Given the description of an element on the screen output the (x, y) to click on. 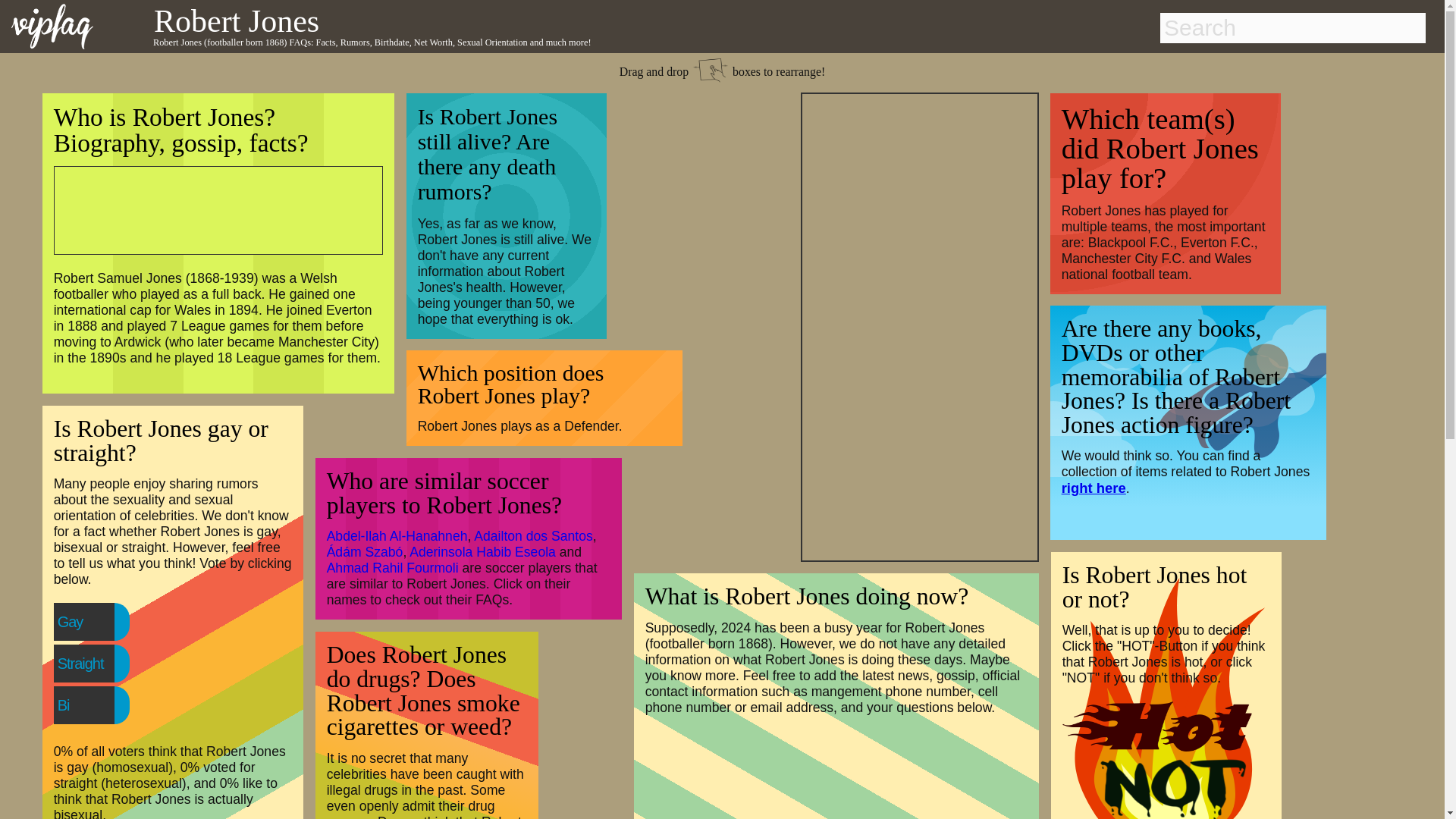
Straight (111, 663)
Bi (94, 705)
Adailton dos Santos (533, 535)
Aderinsola Habib Eseola (482, 551)
Advertisement (919, 324)
right here (1093, 487)
Ahmad Rahil Fourmoli (392, 567)
Gay (101, 622)
Abdel-Ilah Al-Hanahneh (396, 535)
Advertisement (209, 208)
